Given the description of an element on the screen output the (x, y) to click on. 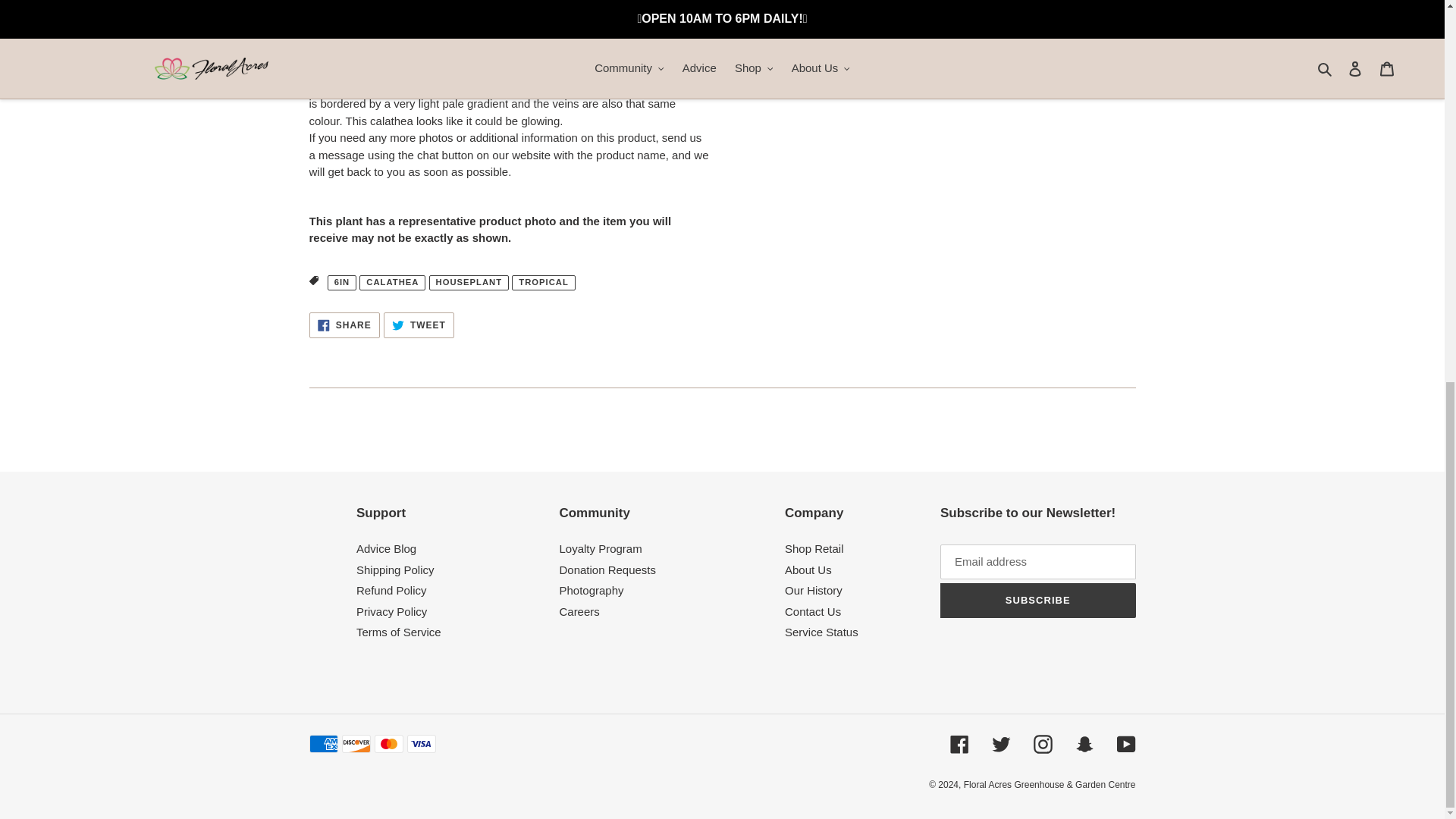
Visa (420, 743)
American Express (322, 743)
Mastercard (388, 743)
Discover (354, 743)
